Given the description of an element on the screen output the (x, y) to click on. 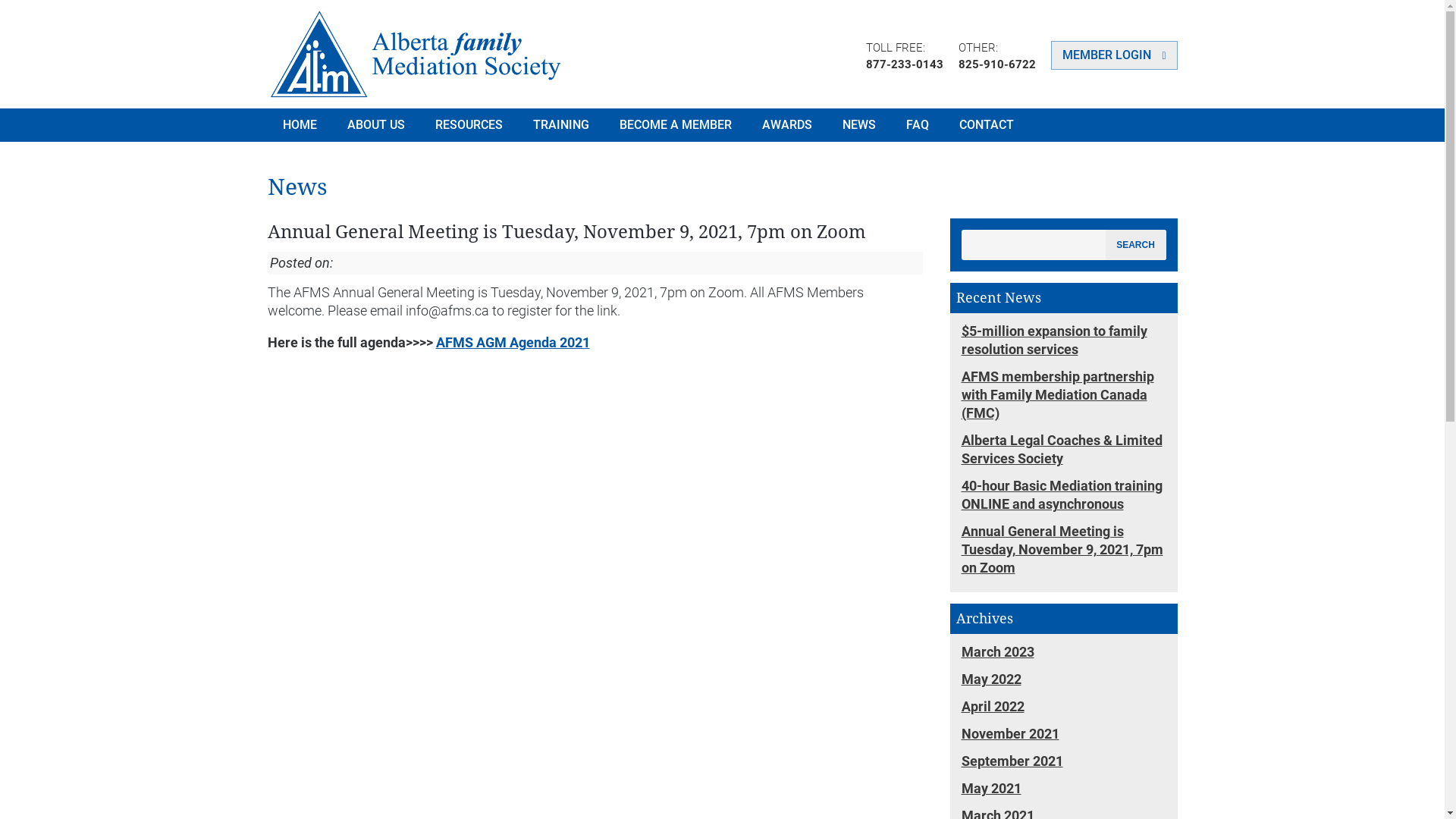
September 2021 Element type: text (1063, 764)
AFMS AGM Agenda 2021 Element type: text (512, 342)
$5-million expansion to family resolution services Element type: text (1063, 343)
May 2022 Element type: text (1063, 682)
CONTACT Element type: text (985, 124)
April 2022 Element type: text (1063, 709)
November 2021 Element type: text (1063, 736)
May 2021 Element type: text (1063, 791)
Search Element type: text (1135, 244)
Alberta Legal Coaches & Limited Services Society Element type: text (1063, 452)
40-hour Basic Mediation training ONLINE and asynchronous Element type: text (1063, 497)
AWARDS Element type: text (786, 124)
ABOUT US Element type: text (376, 124)
NEWS Element type: text (858, 124)
FAQ Element type: text (916, 124)
MEMBER LOGIN Element type: text (1114, 54)
825-910-6722 Element type: text (996, 64)
TRAINING Element type: text (560, 124)
BECOME A MEMBER Element type: text (674, 124)
March 2023 Element type: text (1063, 654)
RESOURCES Element type: text (468, 124)
877-233-0143 Element type: text (904, 64)
HOME Element type: text (298, 124)
